Given the description of an element on the screen output the (x, y) to click on. 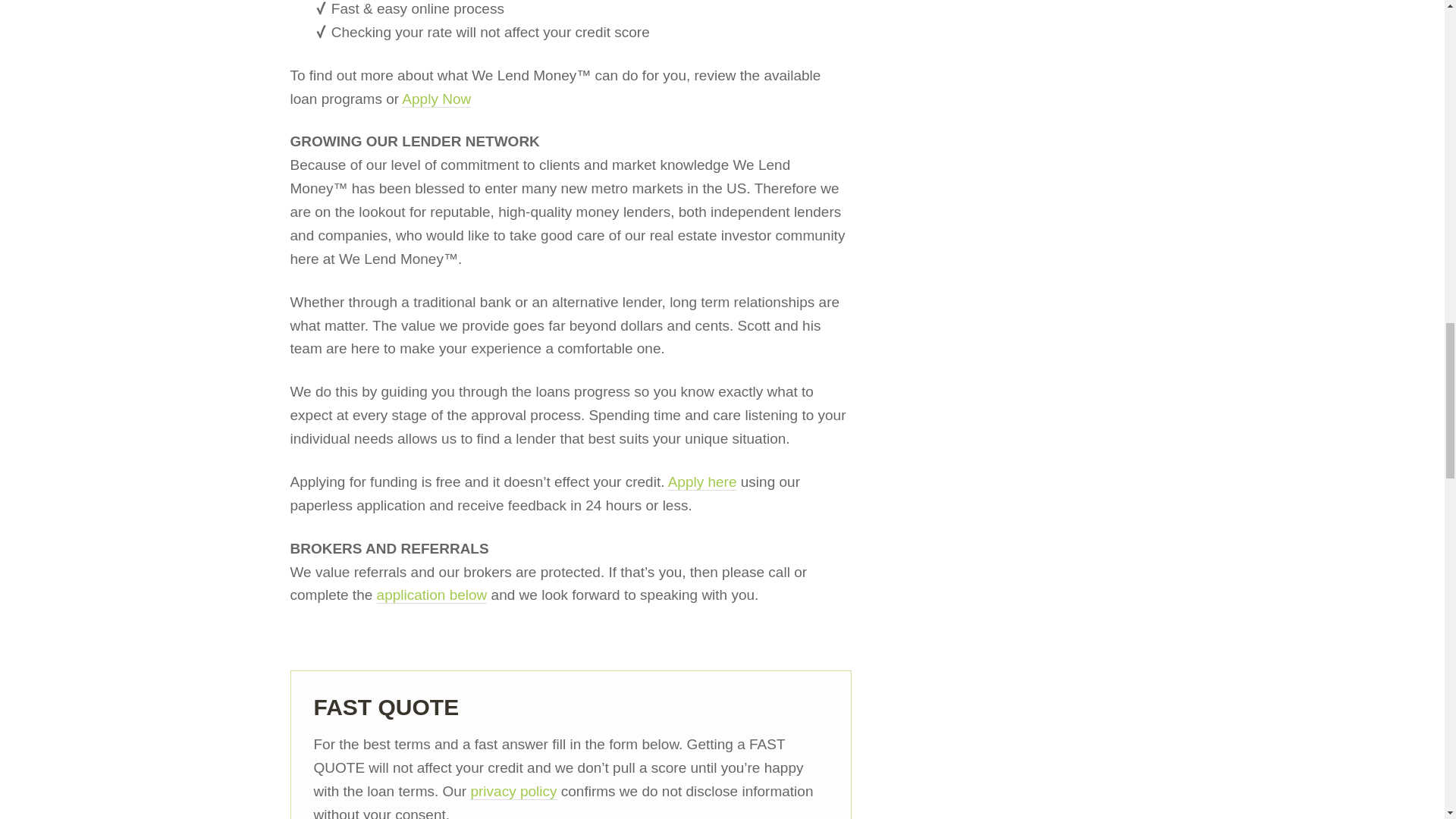
privacy policy (513, 791)
Apply here (702, 482)
application below (432, 595)
Apply Now (435, 98)
